Given the description of an element on the screen output the (x, y) to click on. 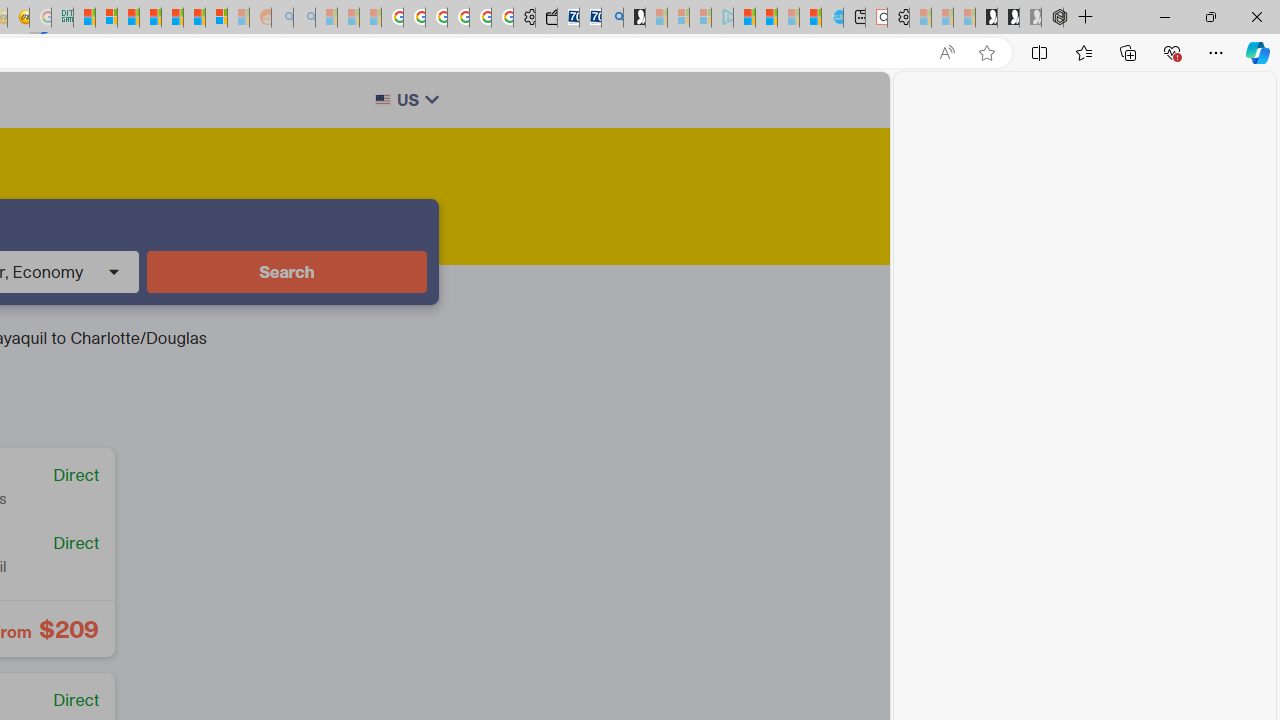
Student Loan Update: Forgiveness Program Ends This Month (150, 17)
DITOGAMES AG Imprint (62, 17)
Copilot (Ctrl+Shift+.) (1258, 52)
Favorites (1083, 52)
Add this page to favorites (Ctrl+D) (986, 53)
Utah sues federal government - Search - Sleeping (304, 17)
Microsoft account | Privacy (106, 17)
Nordace - Nordace Siena Is Not An Ordinary Backpack (1052, 17)
Search (287, 272)
Play Free Online Games | Games from Microsoft Start (986, 17)
Close (1256, 16)
Settings and more (Alt+F) (1215, 52)
Microsoft Start (744, 17)
